Given the description of an element on the screen output the (x, y) to click on. 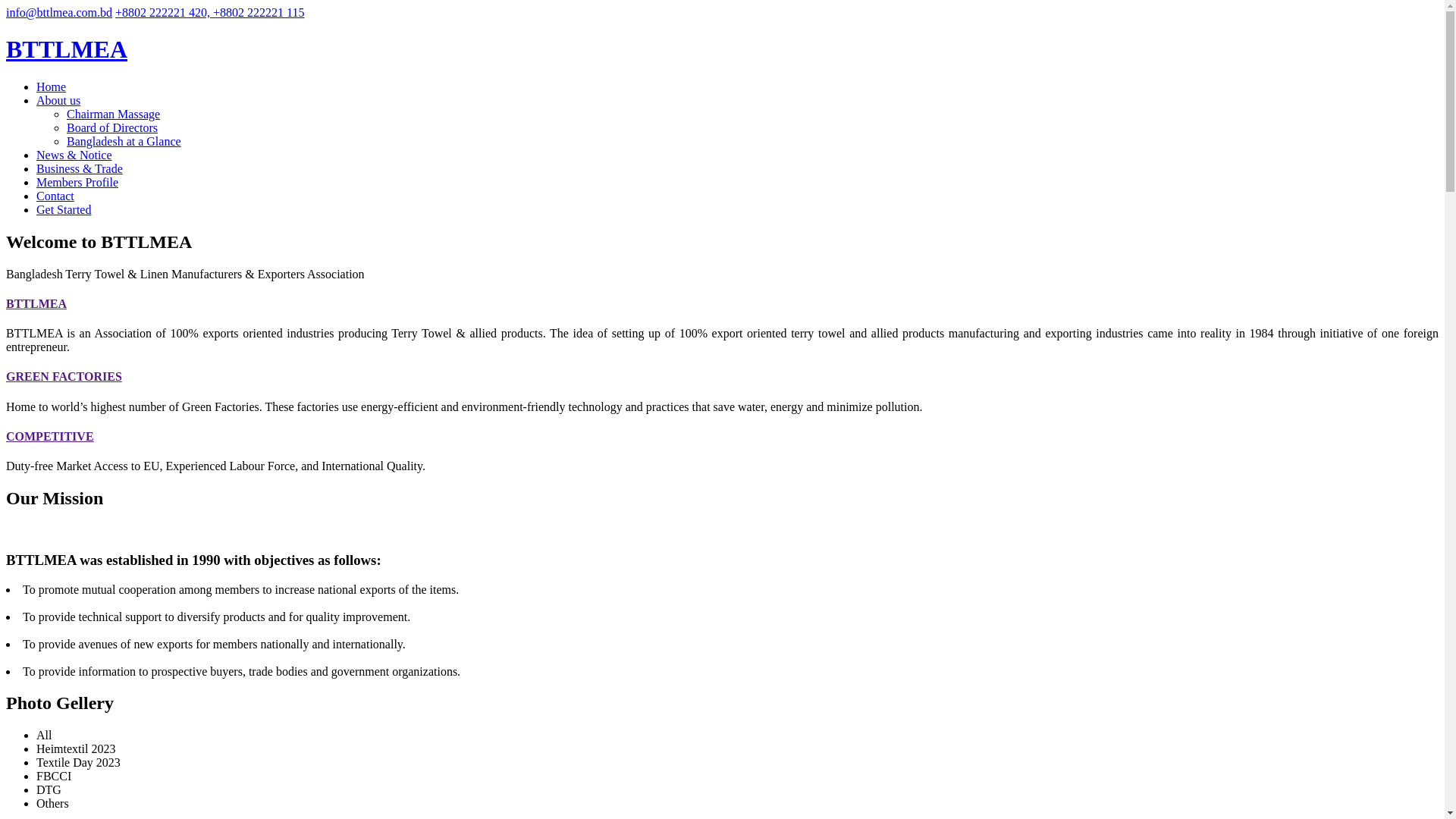
Members Profile Element type: text (77, 181)
GREEN FACTORIES Element type: text (64, 376)
Bangladesh at a Glance Element type: text (123, 140)
Chairman Massage Element type: text (113, 113)
Get Started Element type: text (63, 209)
BTTLMEA Element type: text (36, 303)
About us Element type: text (58, 100)
News & Notice Element type: text (74, 154)
COMPETITIVE Element type: text (50, 435)
+8802 222221 420, +8802 222221 115 Element type: text (209, 12)
Home Element type: text (50, 86)
BTTLMEA Element type: text (66, 48)
Contact Element type: text (55, 195)
Board of Directors Element type: text (111, 127)
info@bttlmea.com.bd Element type: text (59, 12)
Business & Trade Element type: text (79, 168)
